Given the description of an element on the screen output the (x, y) to click on. 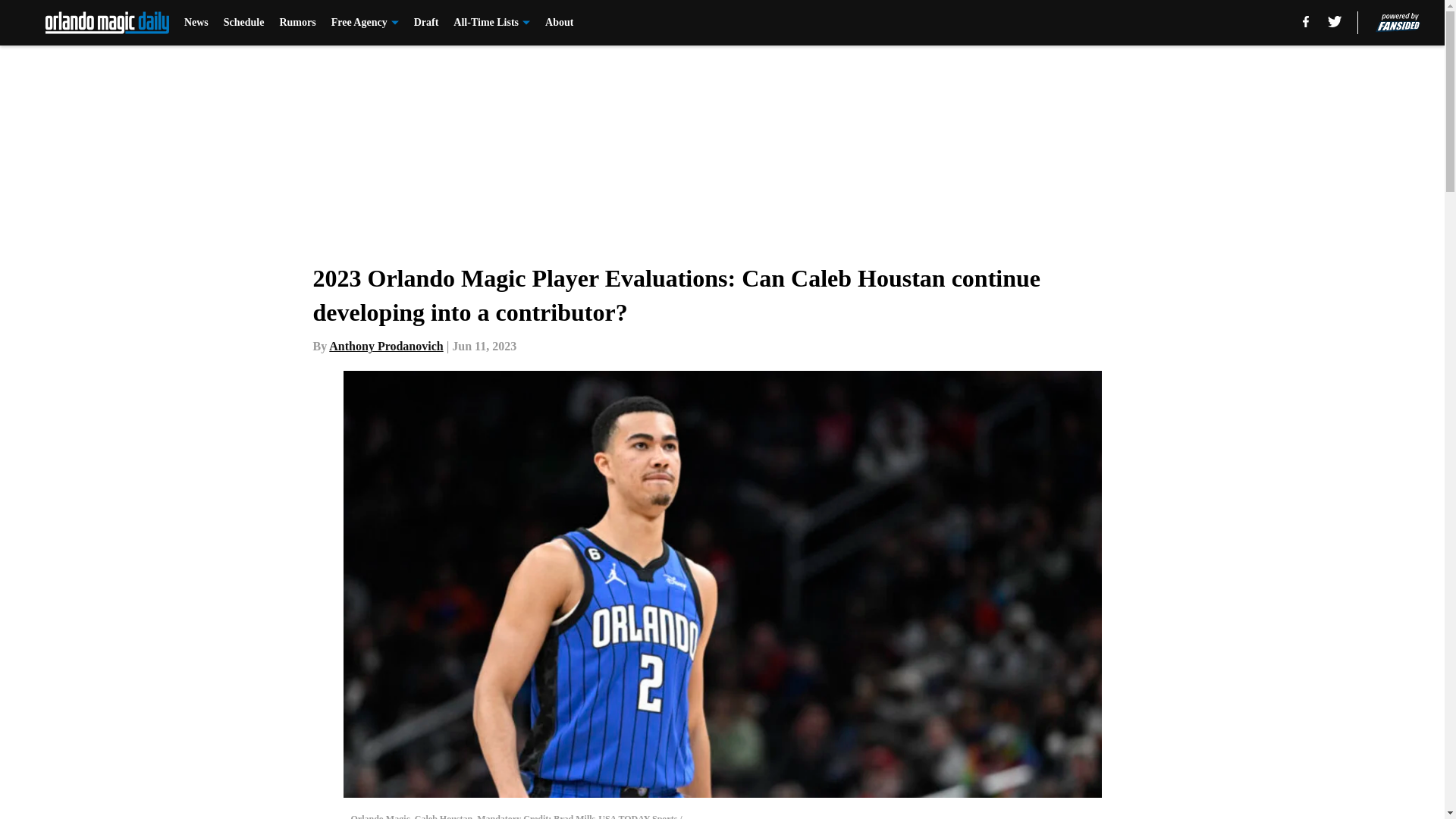
All-Time Lists (490, 22)
Anthony Prodanovich (385, 345)
Rumors (297, 22)
Draft (426, 22)
News (196, 22)
About (558, 22)
Free Agency (364, 22)
Schedule (244, 22)
